Given the description of an element on the screen output the (x, y) to click on. 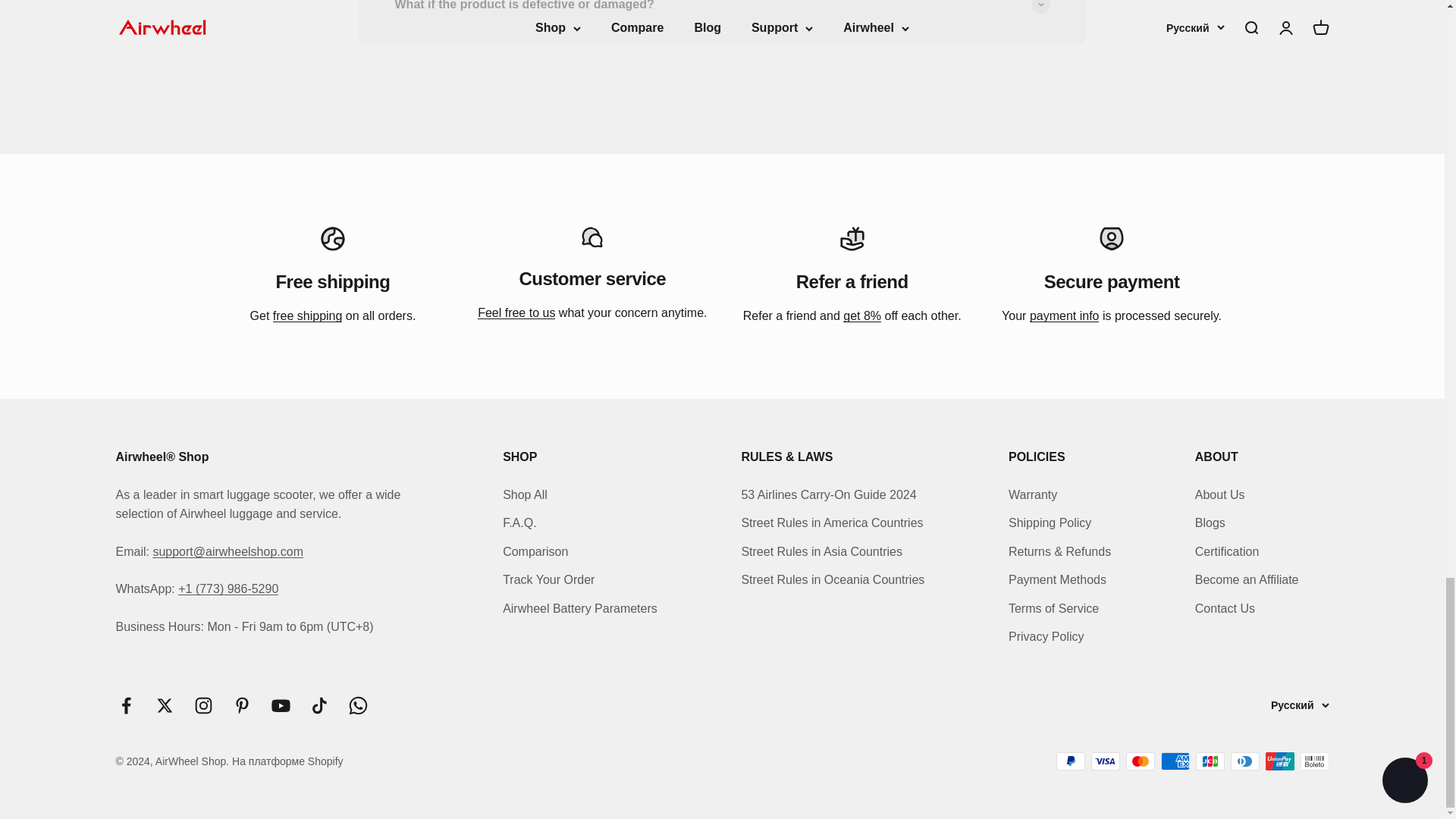
Contact Us (515, 312)
Shipping Policy (307, 315)
Payment Methods (1064, 315)
Become an Affiliate (861, 315)
